Given the description of an element on the screen output the (x, y) to click on. 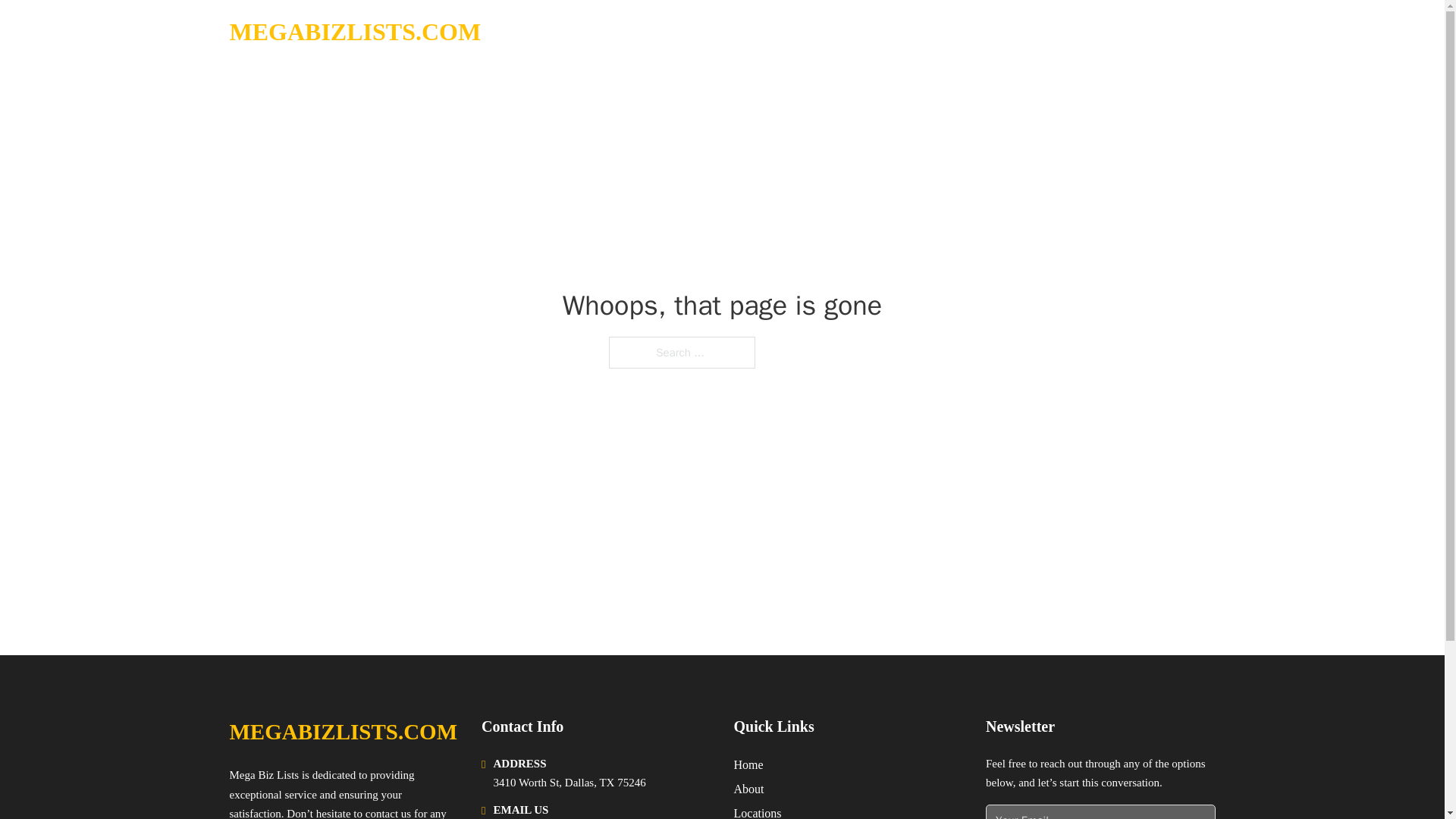
Locations (757, 811)
About (748, 788)
MEGABIZLISTS.COM (354, 31)
LOCATIONS (1098, 31)
Home (747, 764)
MEGABIZLISTS.COM (342, 732)
HOME (1025, 31)
